Given the description of an element on the screen output the (x, y) to click on. 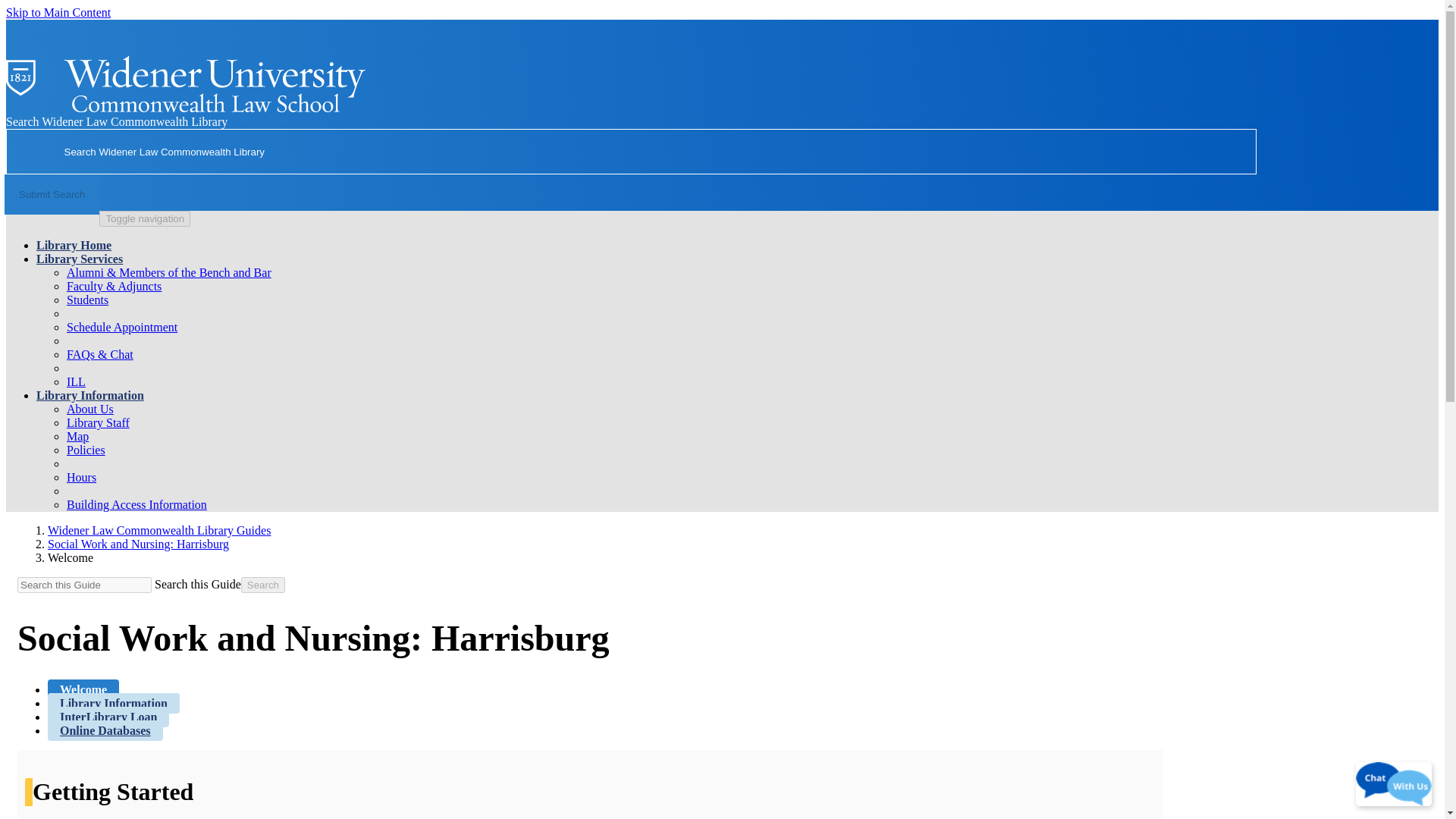
About Us (89, 408)
InterLibrary Loan (108, 716)
Library Home (74, 245)
Welcome (83, 689)
Library Staff (97, 422)
Students (86, 299)
Building Access Information (136, 504)
Schedule Appointment (121, 327)
Library Information (90, 395)
Search Widener Law Commonwealth Library (630, 151)
Search (263, 584)
ILL (75, 381)
Skip to Main Content (57, 11)
Library Information (113, 702)
Hours (81, 477)
